Given the description of an element on the screen output the (x, y) to click on. 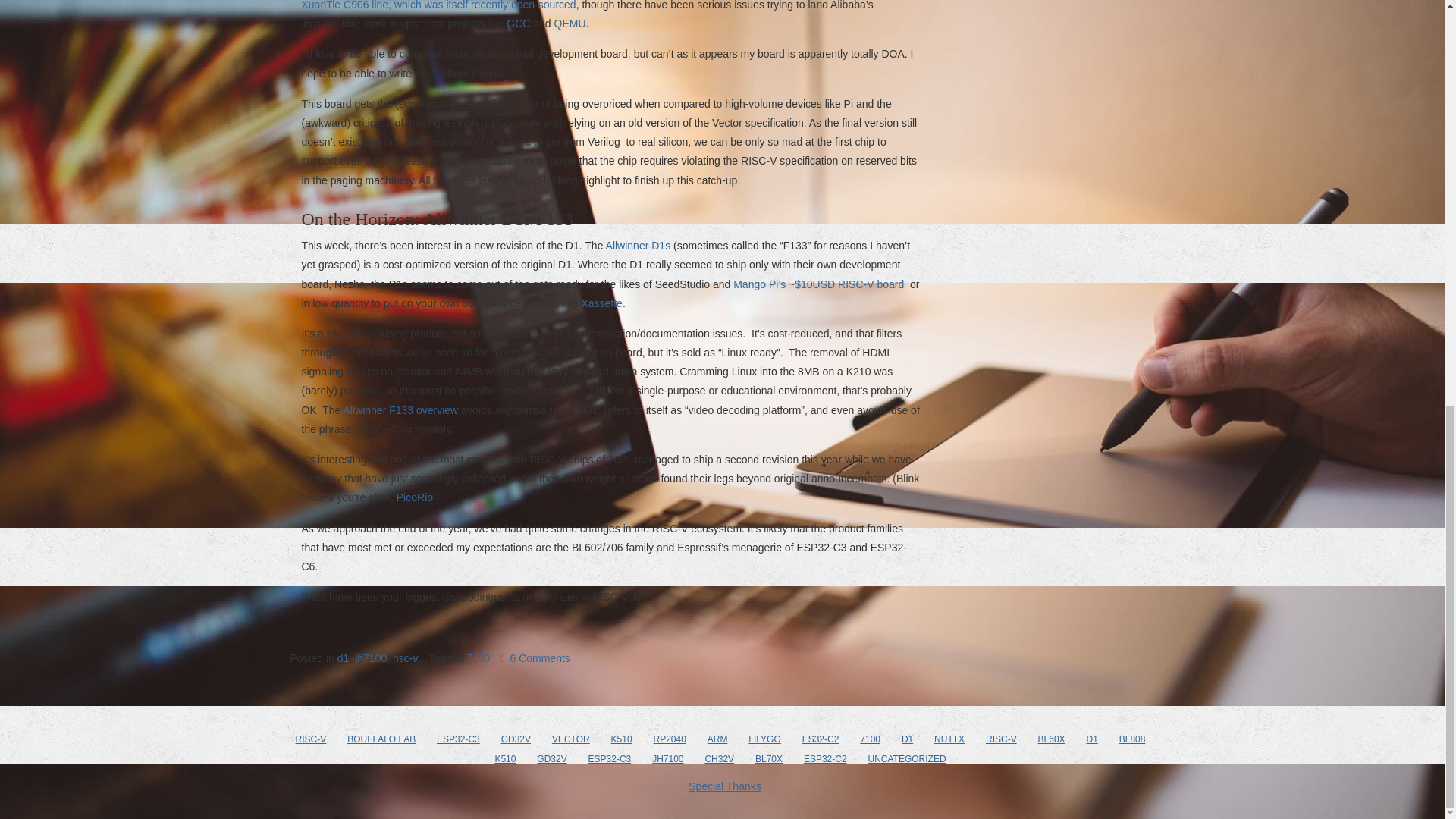
6 Comments (534, 657)
Allwinner F133 overview (400, 410)
risc-v (405, 657)
d1 (343, 657)
GCC (517, 23)
Allwinner D1s (638, 245)
XuanTie C906 line, which was itself recently open-sourced (438, 5)
7100 (477, 657)
jh7100 (371, 657)
PicoRio (414, 497)
QEMU (570, 23)
Xassette (600, 303)
